Given the description of an element on the screen output the (x, y) to click on. 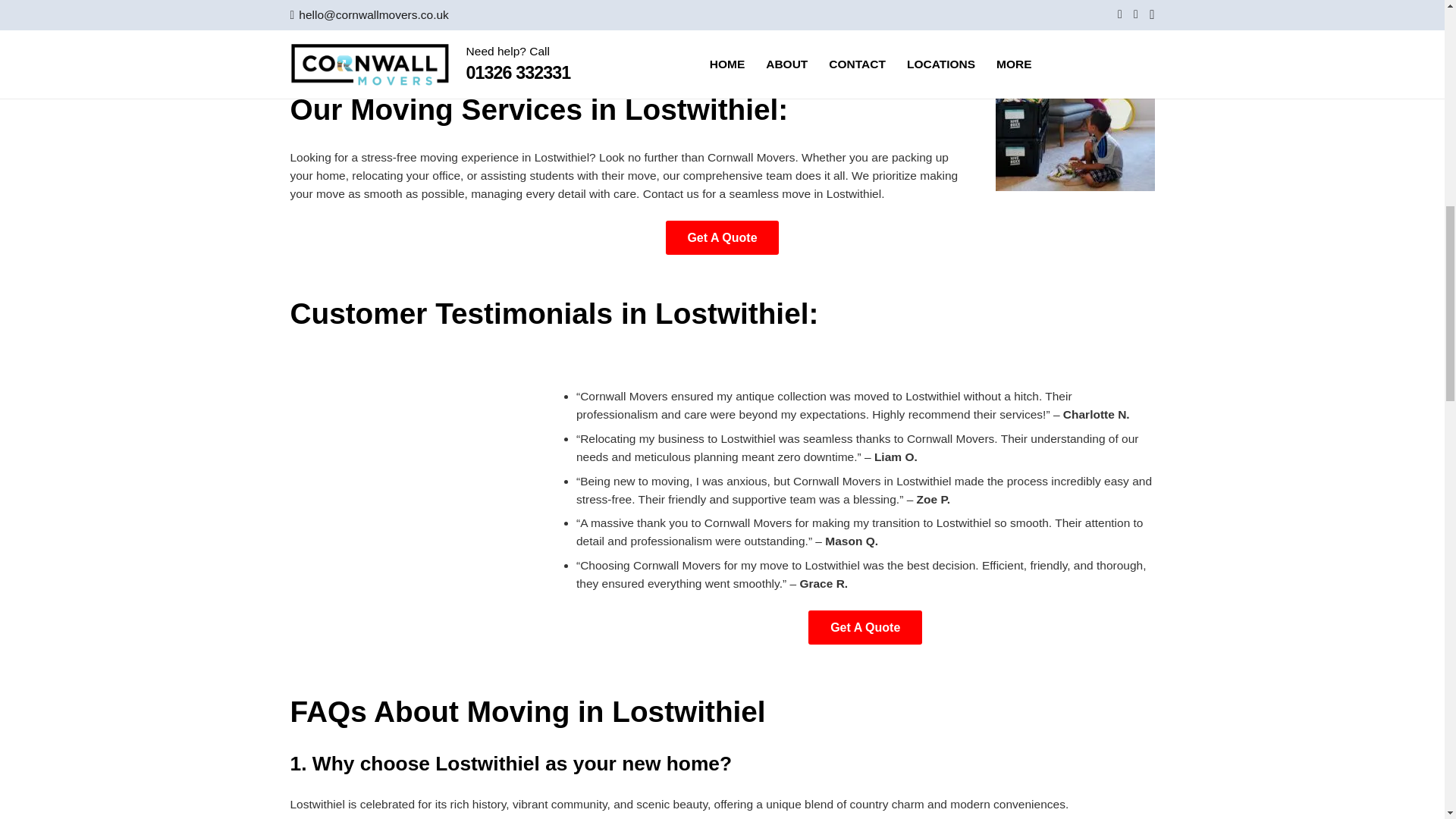
Get A Quote (864, 627)
Get A Quote (721, 237)
Get A Quote (721, 237)
Get A Quote (864, 627)
Back to top (1413, 27)
